Given the description of an element on the screen output the (x, y) to click on. 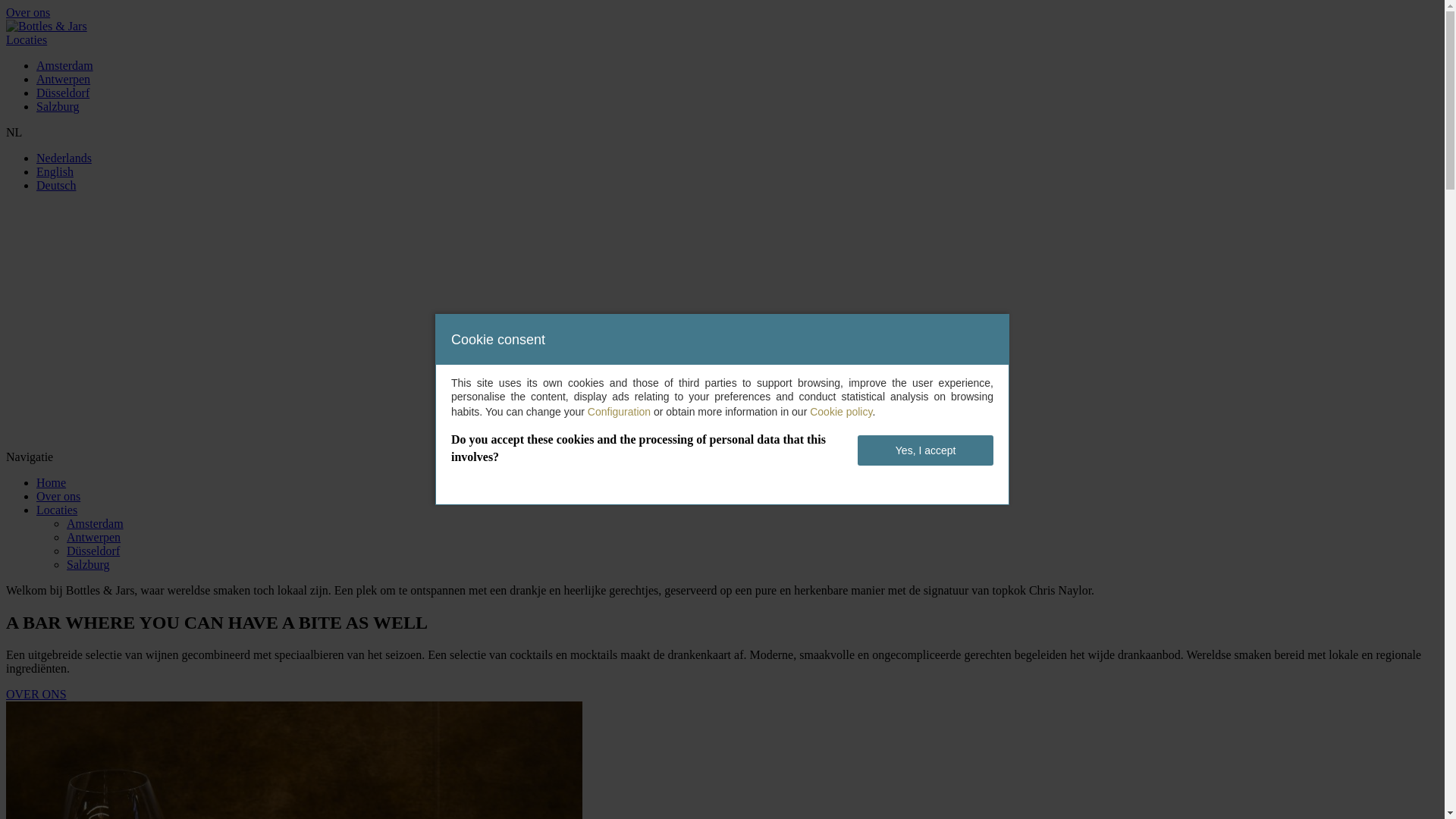
Antwerpen Element type: text (93, 536)
Deutsch Element type: text (55, 184)
Antwerpen Element type: text (63, 78)
Cookie policy Element type: text (840, 411)
Configuration Element type: text (618, 411)
Amsterdam Element type: text (64, 65)
Salzburg Element type: text (57, 106)
OVER ONS Element type: text (36, 693)
Nederlands Element type: text (63, 157)
Yes, I accept Element type: text (925, 450)
Over ons Element type: text (58, 495)
Locaties Element type: text (56, 509)
Salzburg Element type: text (87, 564)
Over ons Element type: text (28, 12)
Amsterdam Element type: text (94, 523)
Home Element type: text (50, 482)
Locaties Element type: text (26, 39)
English Element type: text (54, 171)
